Given the description of an element on the screen output the (x, y) to click on. 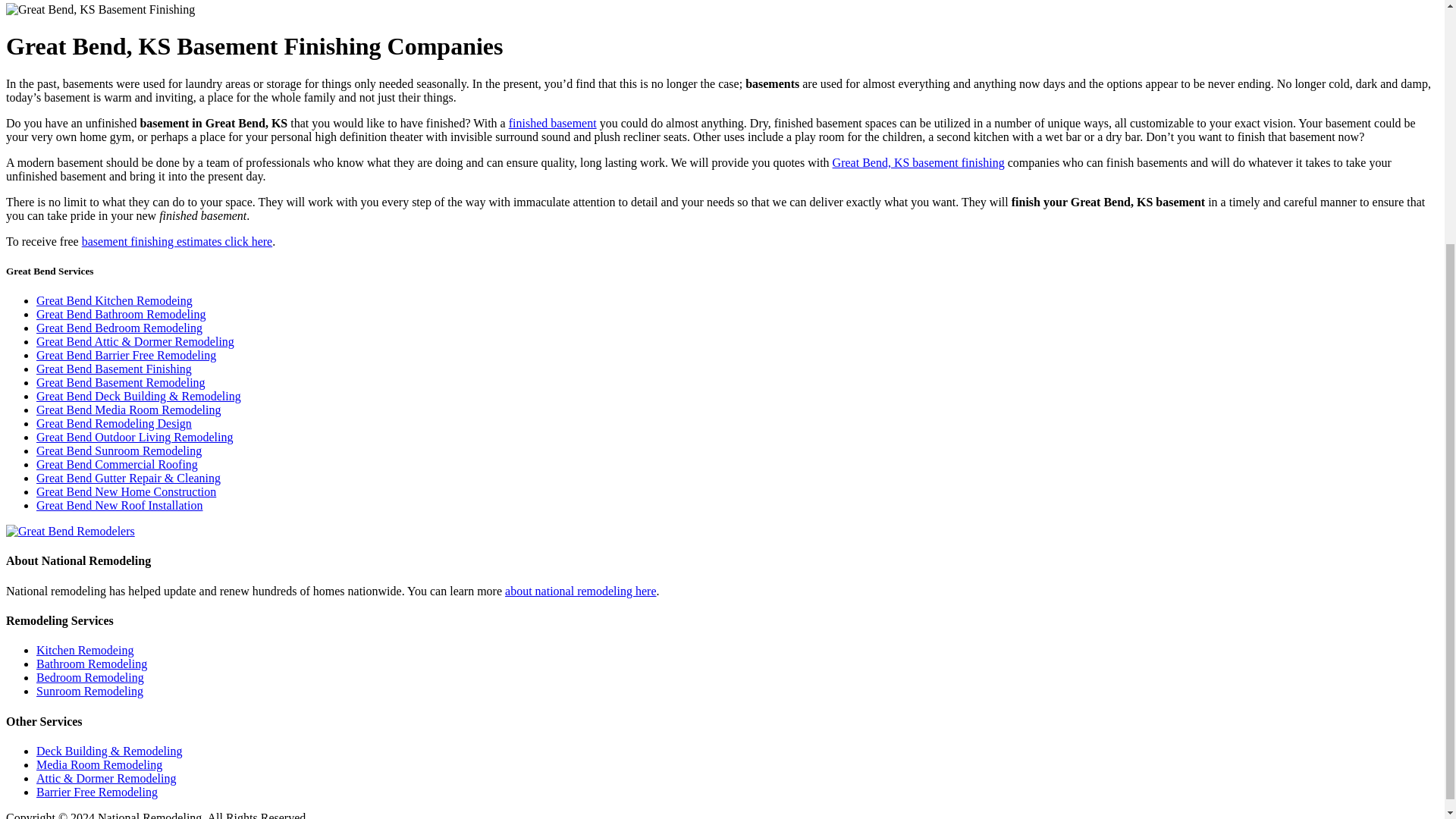
Great Bend Bathroom Remodeling (121, 314)
basement finishing estimates click here (176, 241)
Great Bend Bedroom Remodeling (119, 327)
Great Bend Barrier Free Remodeling (125, 354)
Great Bend Remodeling Design (114, 422)
Great Bend Media Room Remodeling (128, 409)
Great Bend Outdoor Living Remodeling (134, 436)
Great Bend Basement Remodeling (120, 382)
Great Bend Basement Finishing (114, 368)
Great Bend Commercial Roofing (117, 463)
Great Bend, KS basement finishing (918, 162)
Great Bend Sunroom Remodeling (119, 450)
finished basement (552, 123)
Great Bend Kitchen Remodeing (114, 300)
